Given the description of an element on the screen output the (x, y) to click on. 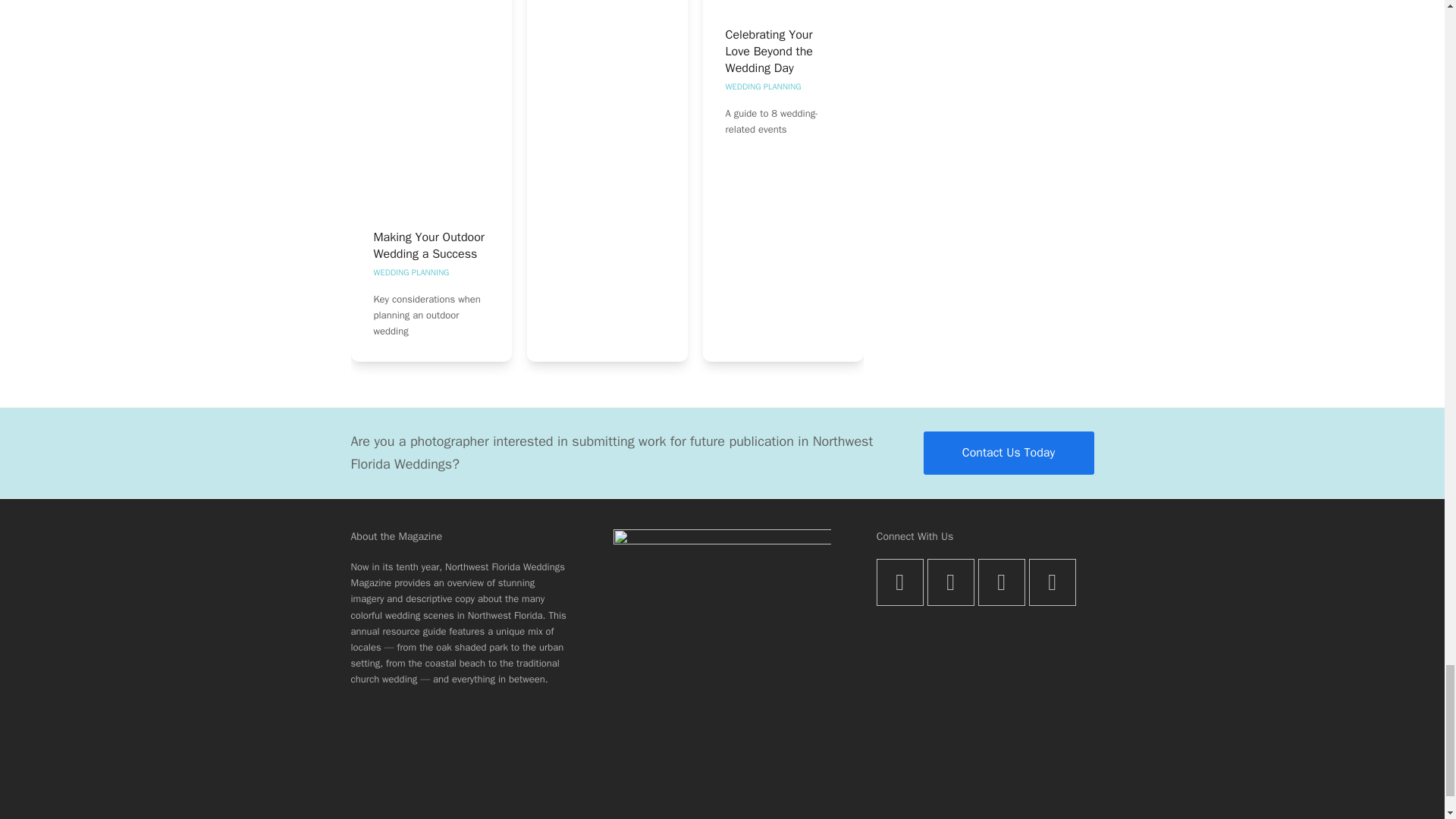
Instagram (1001, 582)
WEDDING PLANNING (410, 271)
Making Your Outdoor Wedding a Success (427, 245)
Twitter (899, 582)
Pinterest (1052, 582)
Facebook (950, 582)
